Given the description of an element on the screen output the (x, y) to click on. 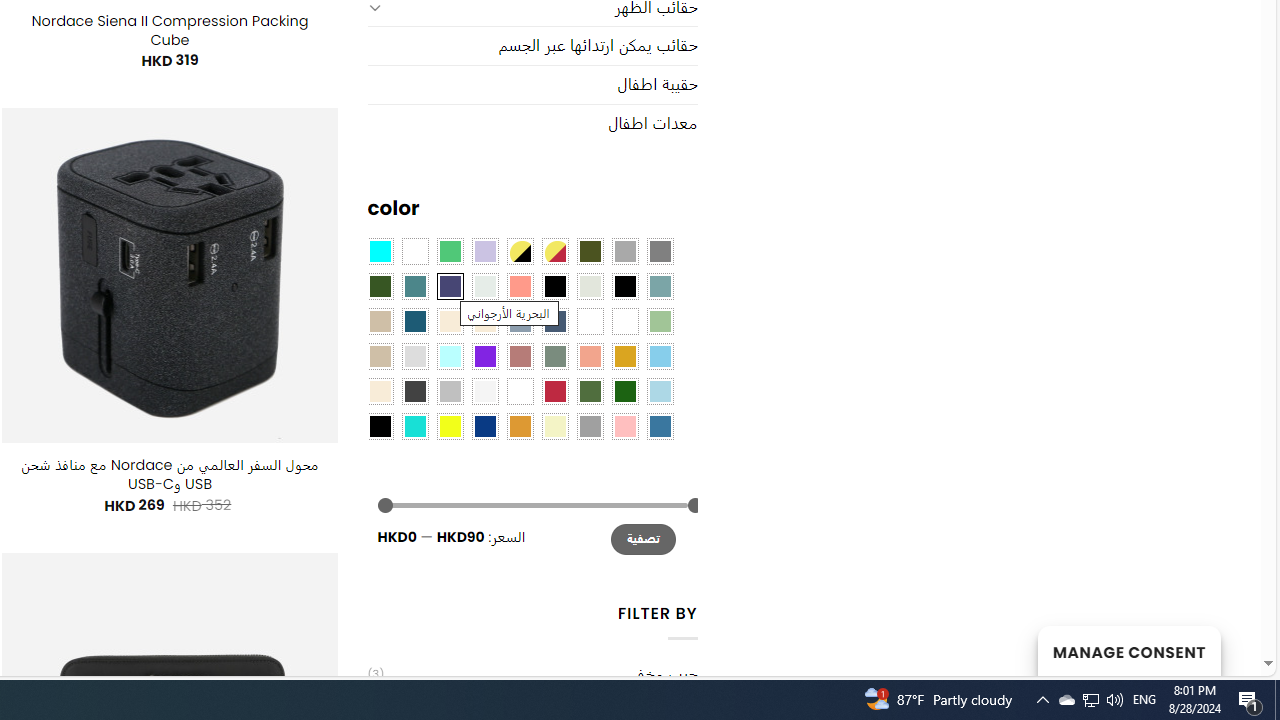
Aqua Blue (379, 251)
Light Green (659, 321)
Brownie (379, 321)
Dusty Blue (519, 321)
Khaki (624, 321)
Ash Gray (589, 285)
Sage (554, 355)
Mint (449, 355)
Hale Navy (554, 321)
